Given the description of an element on the screen output the (x, y) to click on. 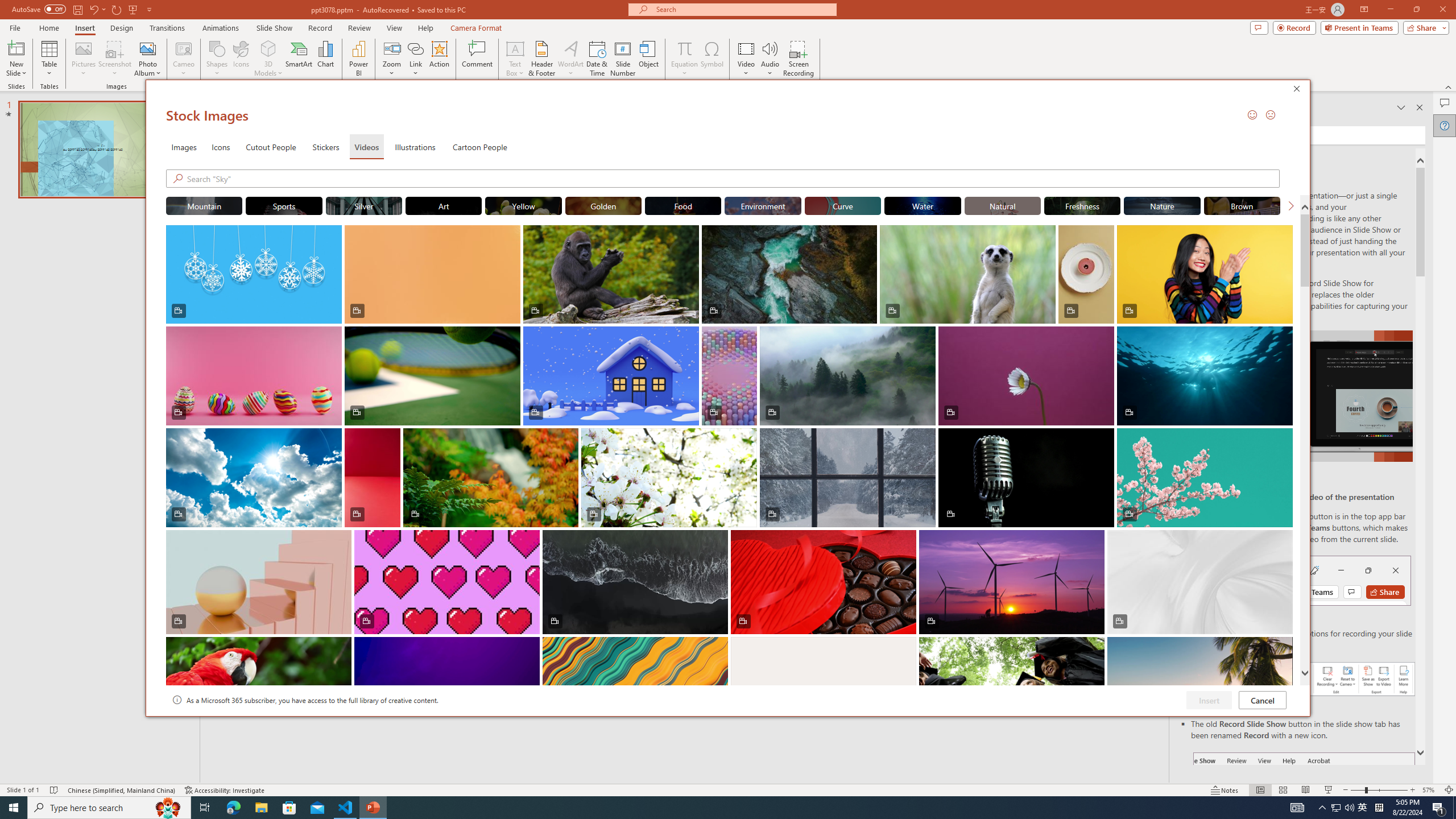
"Natural" Stock Videos. (1002, 205)
Camera Format (475, 28)
Send a Smile (1251, 114)
New Photo Album... (147, 48)
"Mountain" Stock Videos. (203, 205)
Link (415, 58)
"Food" Stock Videos. (682, 205)
